Given the description of an element on the screen output the (x, y) to click on. 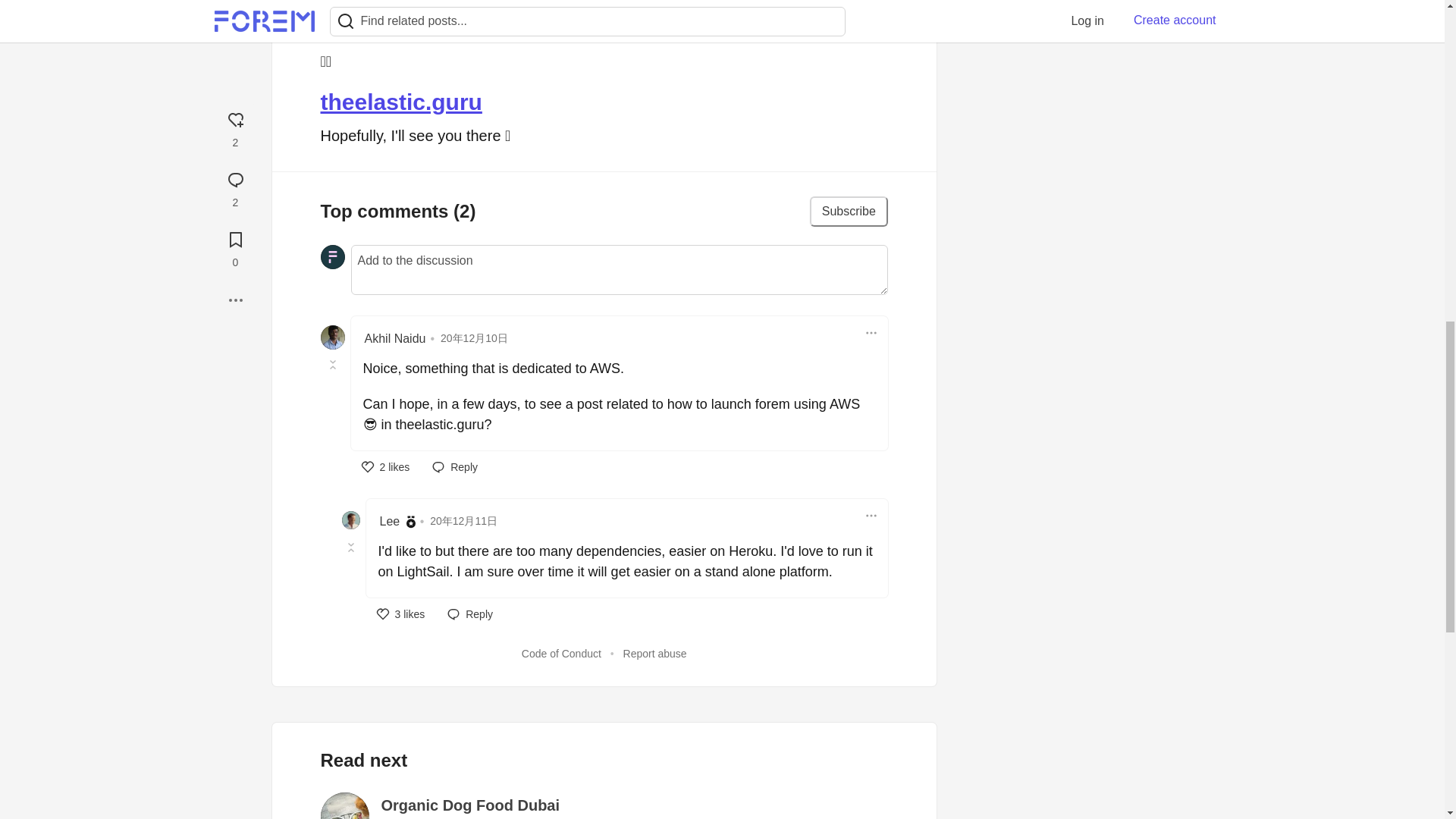
Subscribe (848, 211)
Dropdown menu (870, 515)
Dropdown menu (870, 332)
theelastic.guru (400, 101)
